Given the description of an element on the screen output the (x, y) to click on. 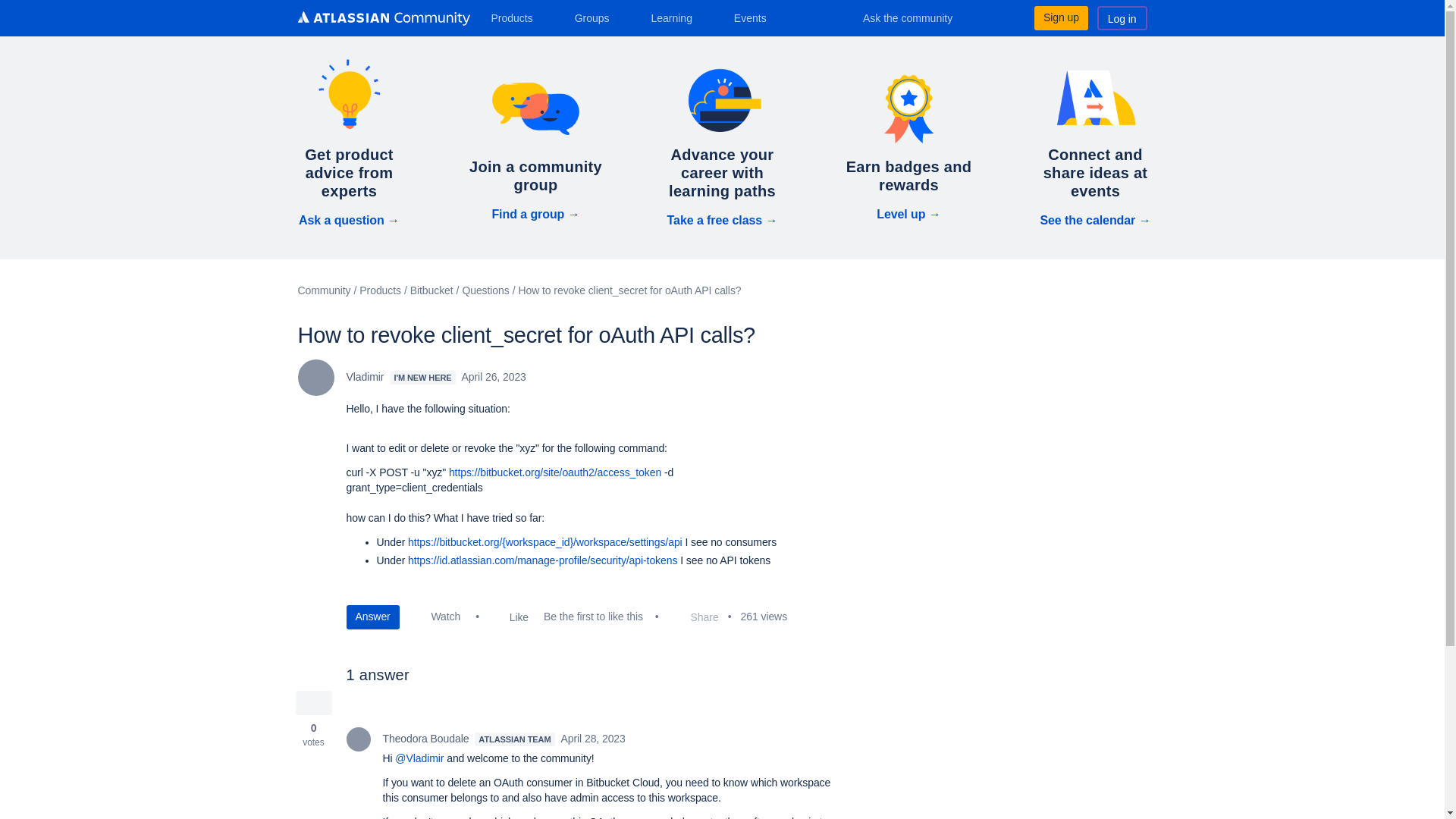
Groups (598, 17)
Atlassian Community logo (382, 19)
Theodora Boudale (357, 739)
Products (517, 17)
Ask the community  (917, 17)
Learning (676, 17)
Vladimir (315, 377)
Log in (1122, 17)
Sign up (1060, 17)
Events (756, 17)
Atlassian Community logo (382, 18)
